Given the description of an element on the screen output the (x, y) to click on. 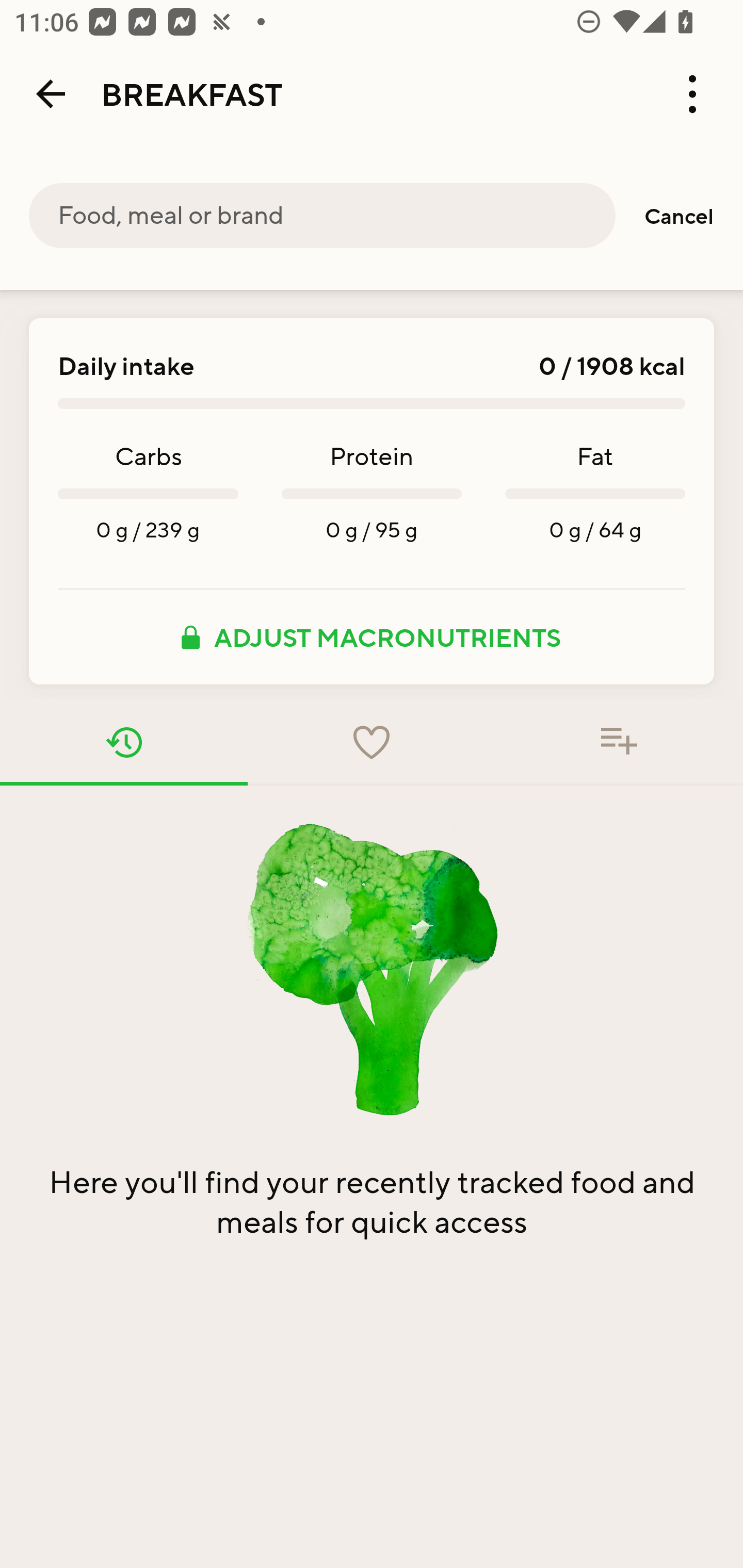
Back (50, 93)
Cancel (679, 215)
ADJUST MACRONUTRIENTS (371, 637)
Favorites (371, 742)
Food added (619, 742)
